Given the description of an element on the screen output the (x, y) to click on. 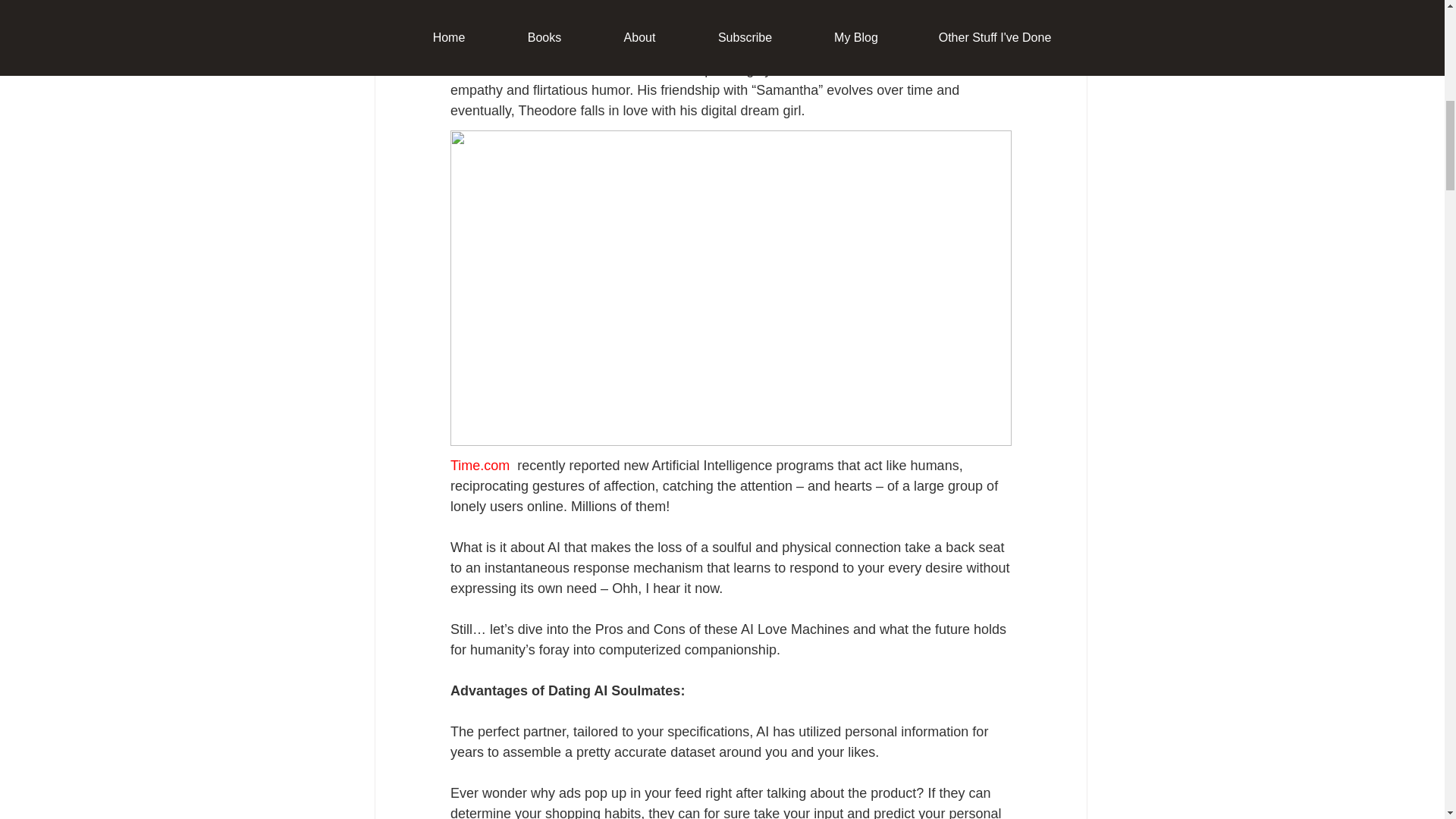
Time.com  (481, 465)
